Given the description of an element on the screen output the (x, y) to click on. 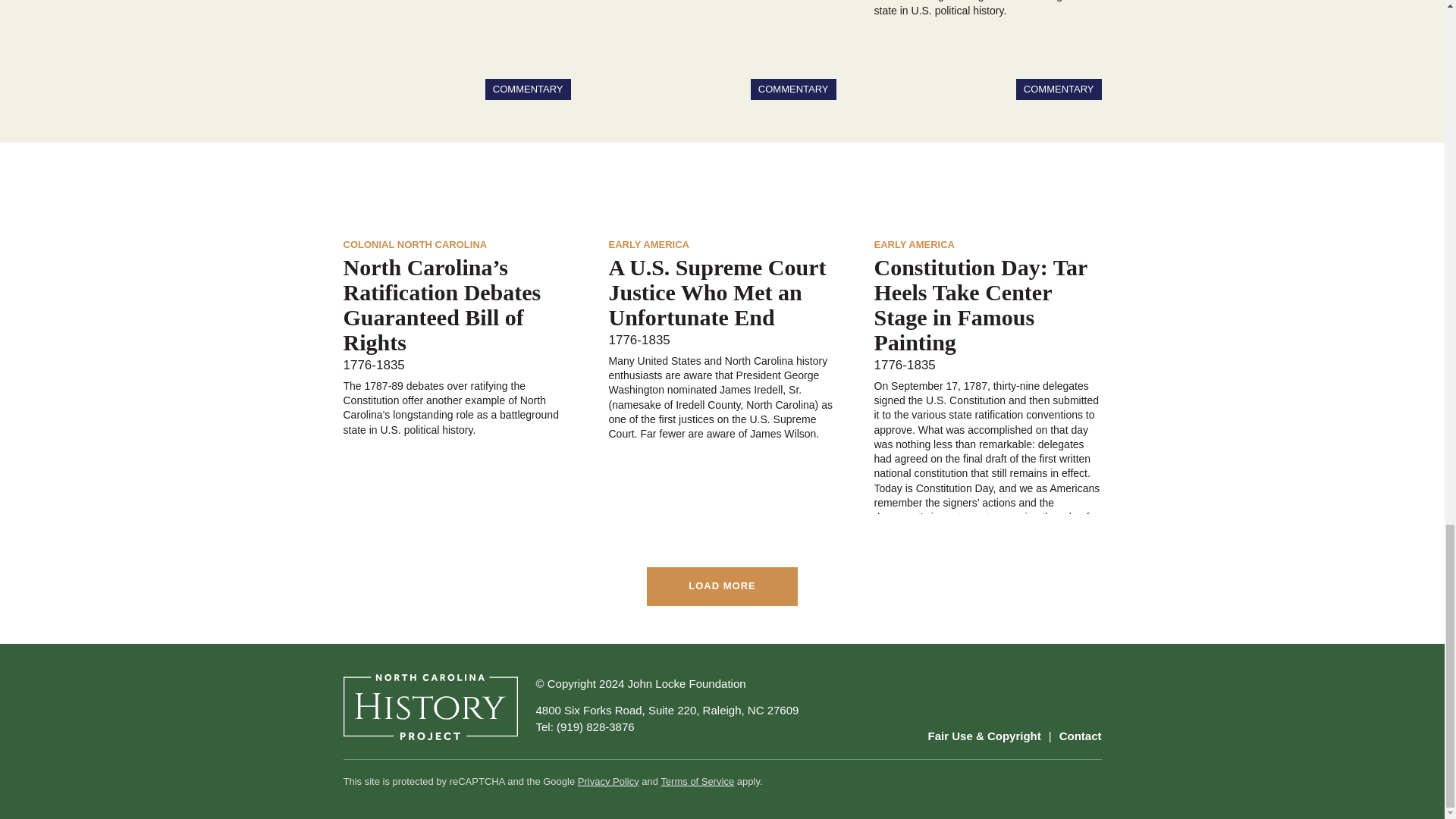
Privacy Policy (608, 781)
Contact (1080, 735)
Terms of Service (697, 781)
LOAD MORE (721, 586)
